Given the description of an element on the screen output the (x, y) to click on. 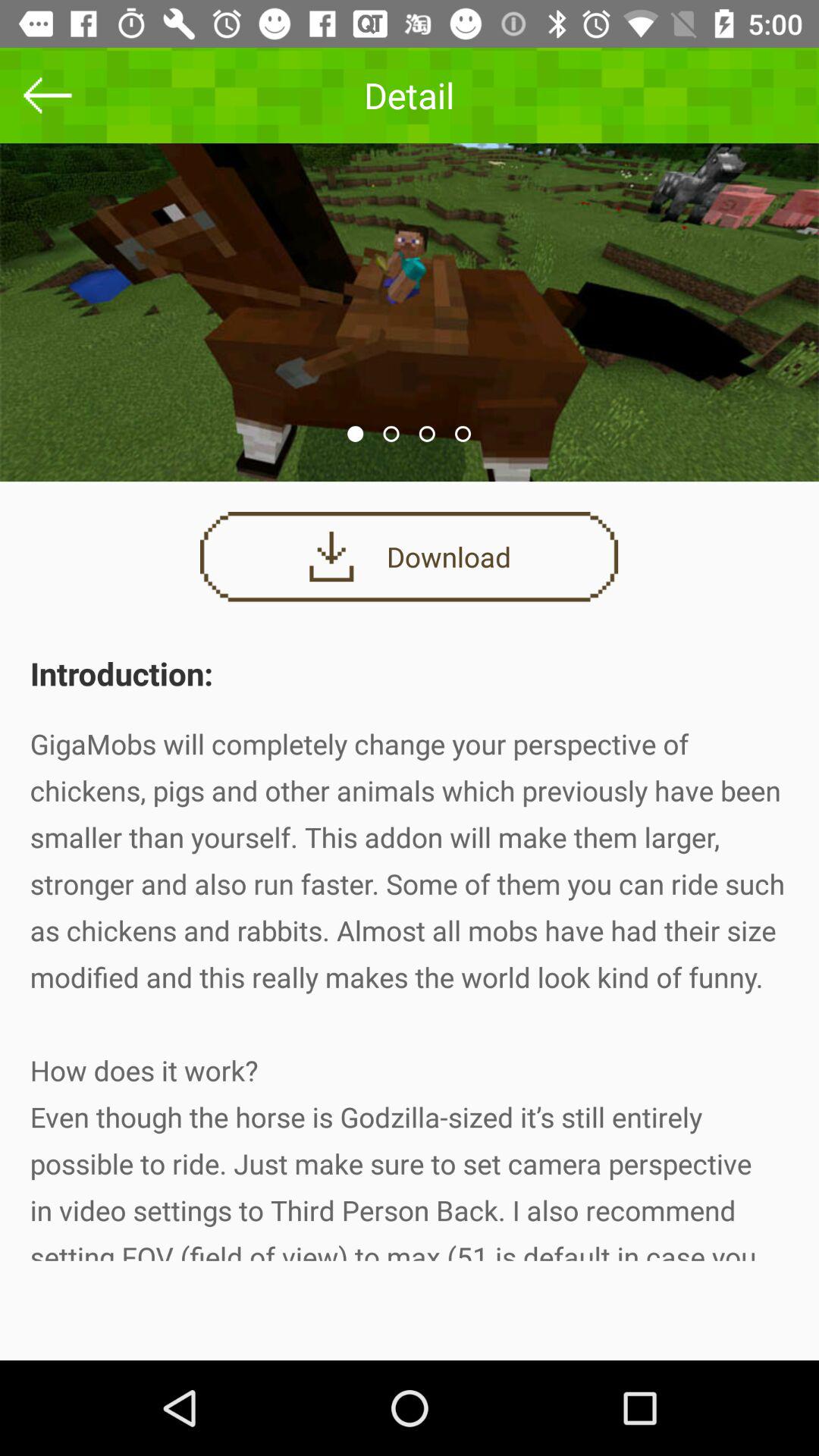
go to previous (47, 95)
